Given the description of an element on the screen output the (x, y) to click on. 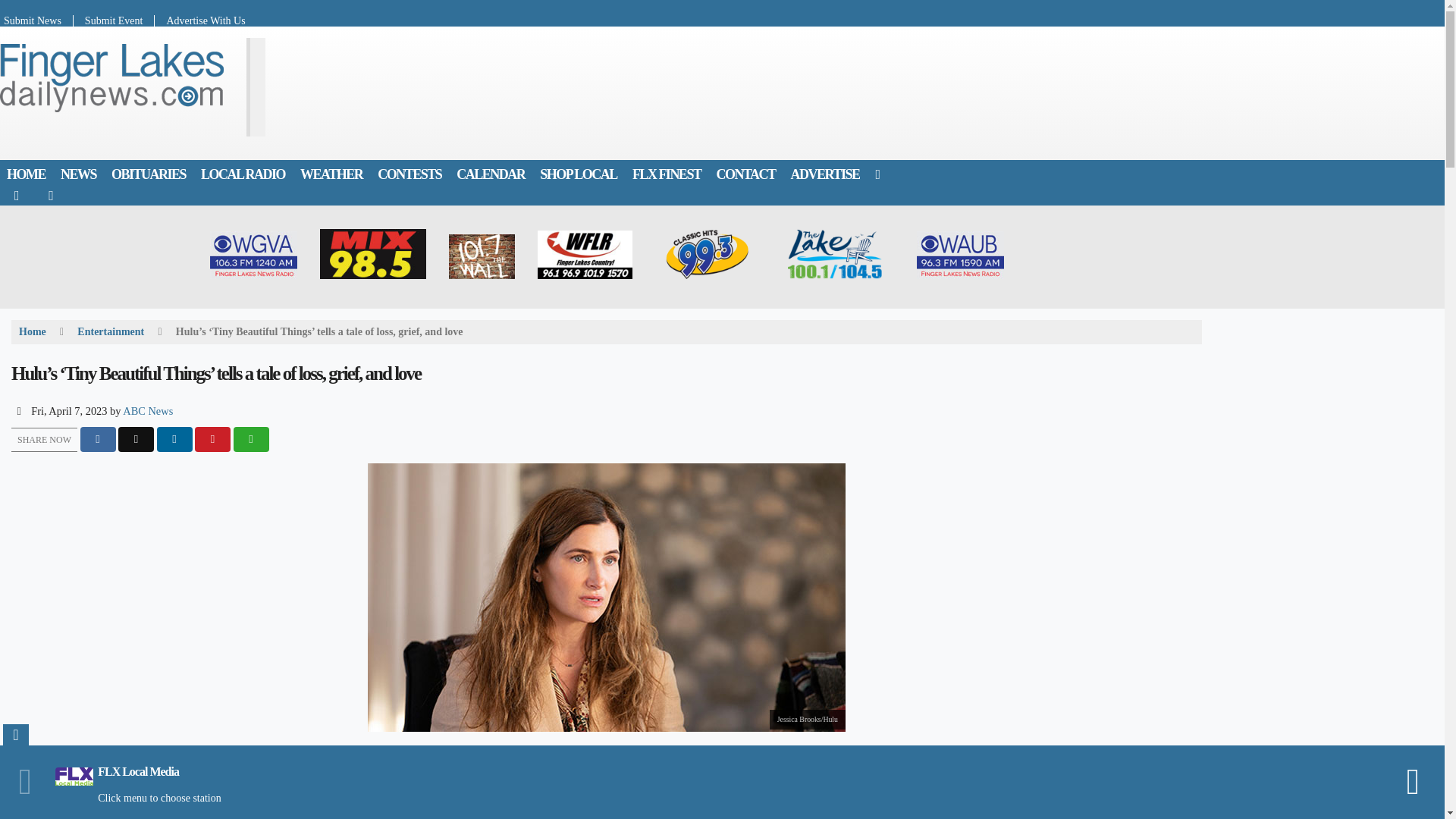
Posts by ABC News (147, 410)
Submit Event (114, 20)
Follow us on X (50, 195)
Advertise With Us (199, 20)
Submit News (37, 20)
Follow us on Facebook (16, 195)
